Given the description of an element on the screen output the (x, y) to click on. 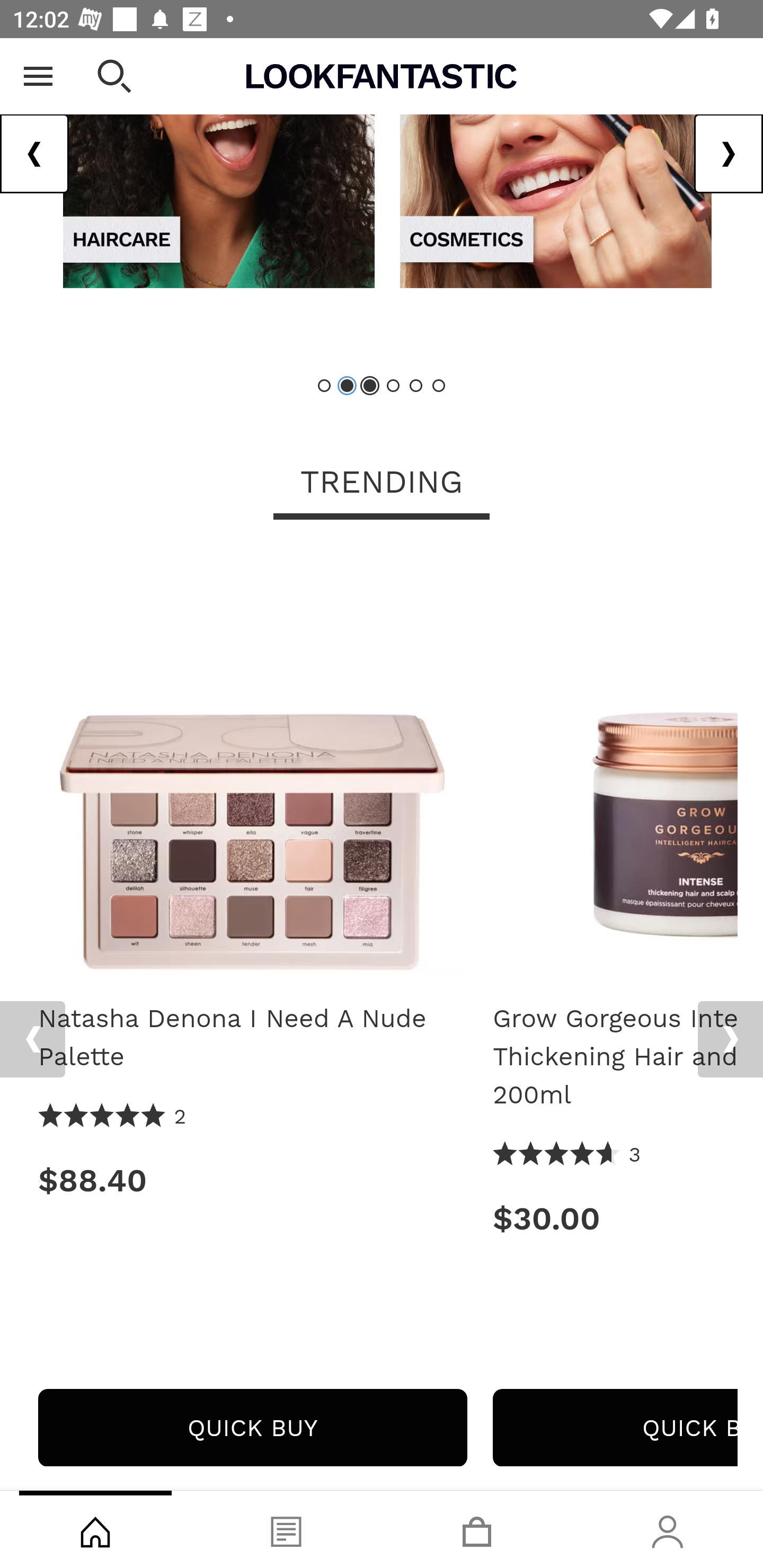
view-all (218, 162)
view-all (555, 162)
Previous (35, 155)
Next (727, 155)
Slide 1 (324, 386)
Showing Slide 2 (Current Item) (347, 386)
Showing Slide 3 (Current Item) (369, 386)
Slide 4 (393, 386)
Slide 5 (415, 386)
Slide 6 (437, 386)
TRENDING (381, 484)
Natasha Denona I Need A Nude Palette (252, 766)
Natasha Denona I Need A Nude Palette (252, 1037)
Previous (32, 1039)
Next (730, 1039)
5.0 Stars 2 Reviews (112, 1117)
4.67 Stars 3 Reviews (567, 1155)
Price: $88.40 (252, 1181)
Price: $30.00 (614, 1219)
QUICK BUY NATASHA DENONA I NEED A NUDE PALETTE (252, 1428)
Shop, tab, 1 of 4 (95, 1529)
Blog, tab, 2 of 4 (285, 1529)
Basket, tab, 3 of 4 (476, 1529)
Account, tab, 4 of 4 (667, 1529)
